Given the description of an element on the screen output the (x, y) to click on. 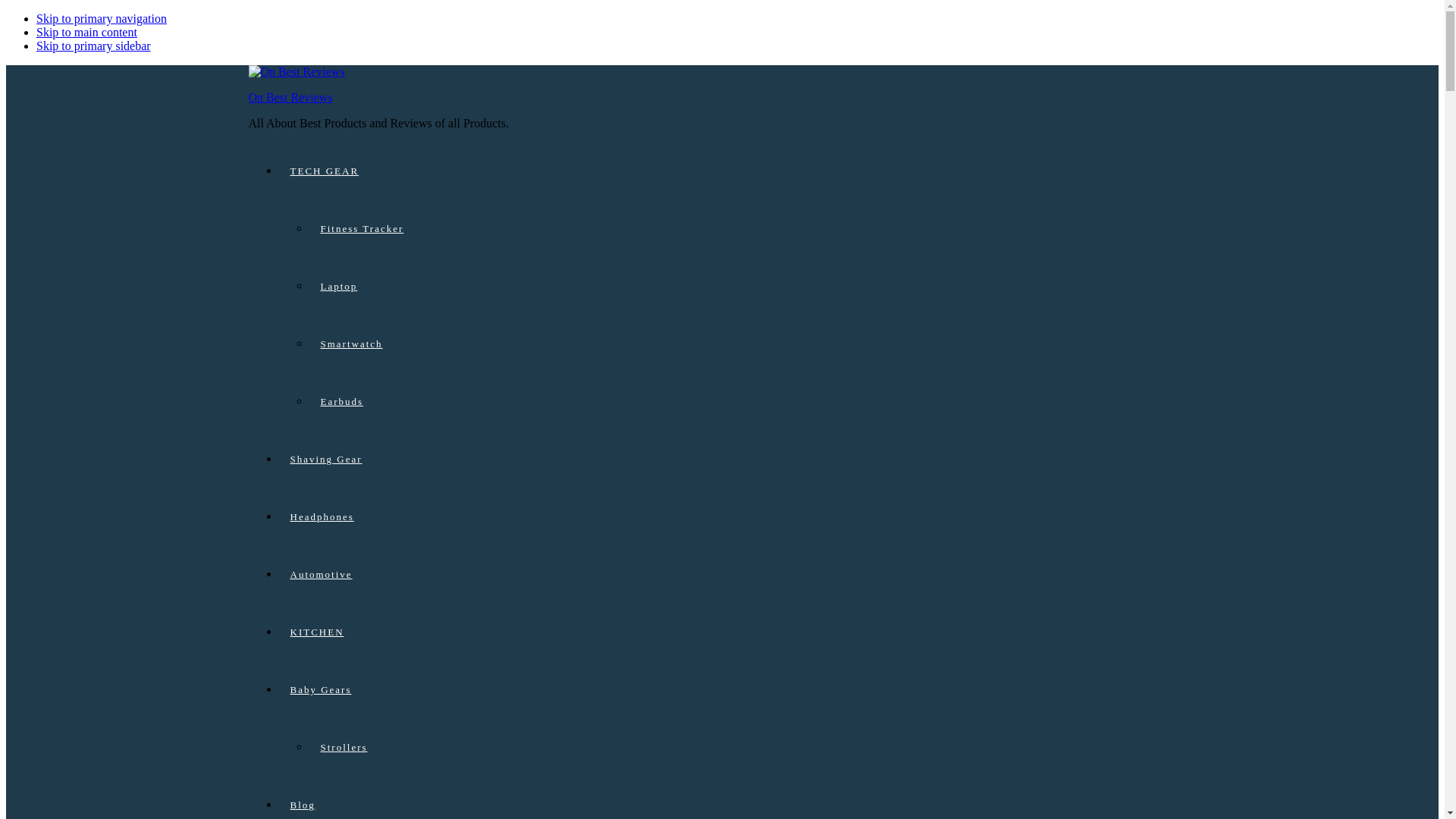
Skip to primary sidebar (93, 45)
KITCHEN (737, 631)
Skip to main content (86, 31)
Automotive (737, 574)
Shaving Gear (737, 459)
TECH GEAR (737, 170)
Headphones (737, 517)
Skip to primary navigation (101, 18)
Baby Gears (737, 689)
Laptop (752, 286)
Earbuds (752, 401)
Blog (737, 797)
Smartwatch (752, 344)
On Best Reviews (290, 97)
Strollers (752, 747)
